Given the description of an element on the screen output the (x, y) to click on. 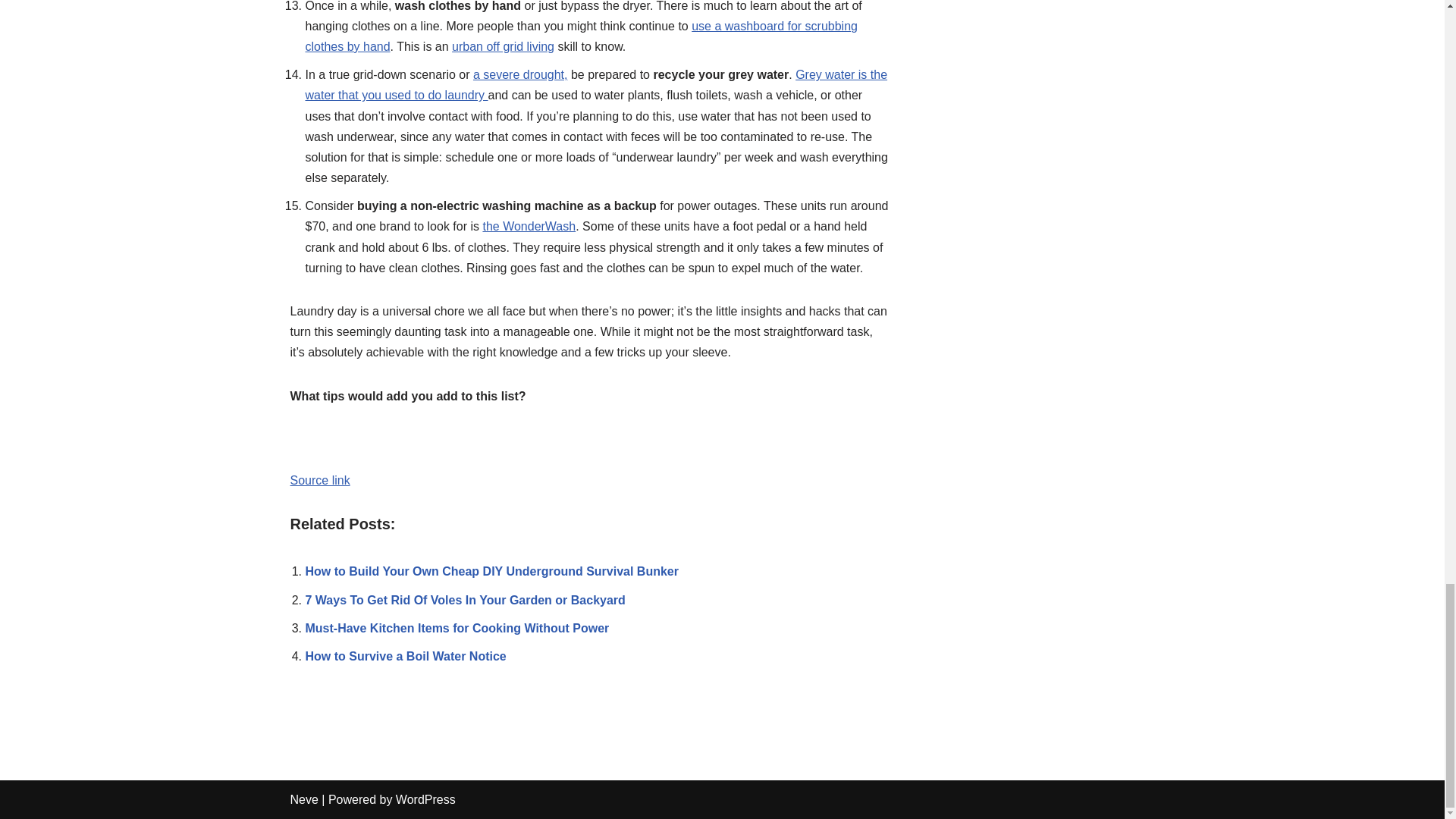
How to Survive a Boil Water Notice (404, 656)
7 Ways To Get Rid Of Voles In Your Garden or Backyard (464, 599)
Must-Have Kitchen Items for Cooking Without Power (456, 627)
How to Build Your Own Cheap DIY Underground Survival Bunker (491, 571)
